Given the description of an element on the screen output the (x, y) to click on. 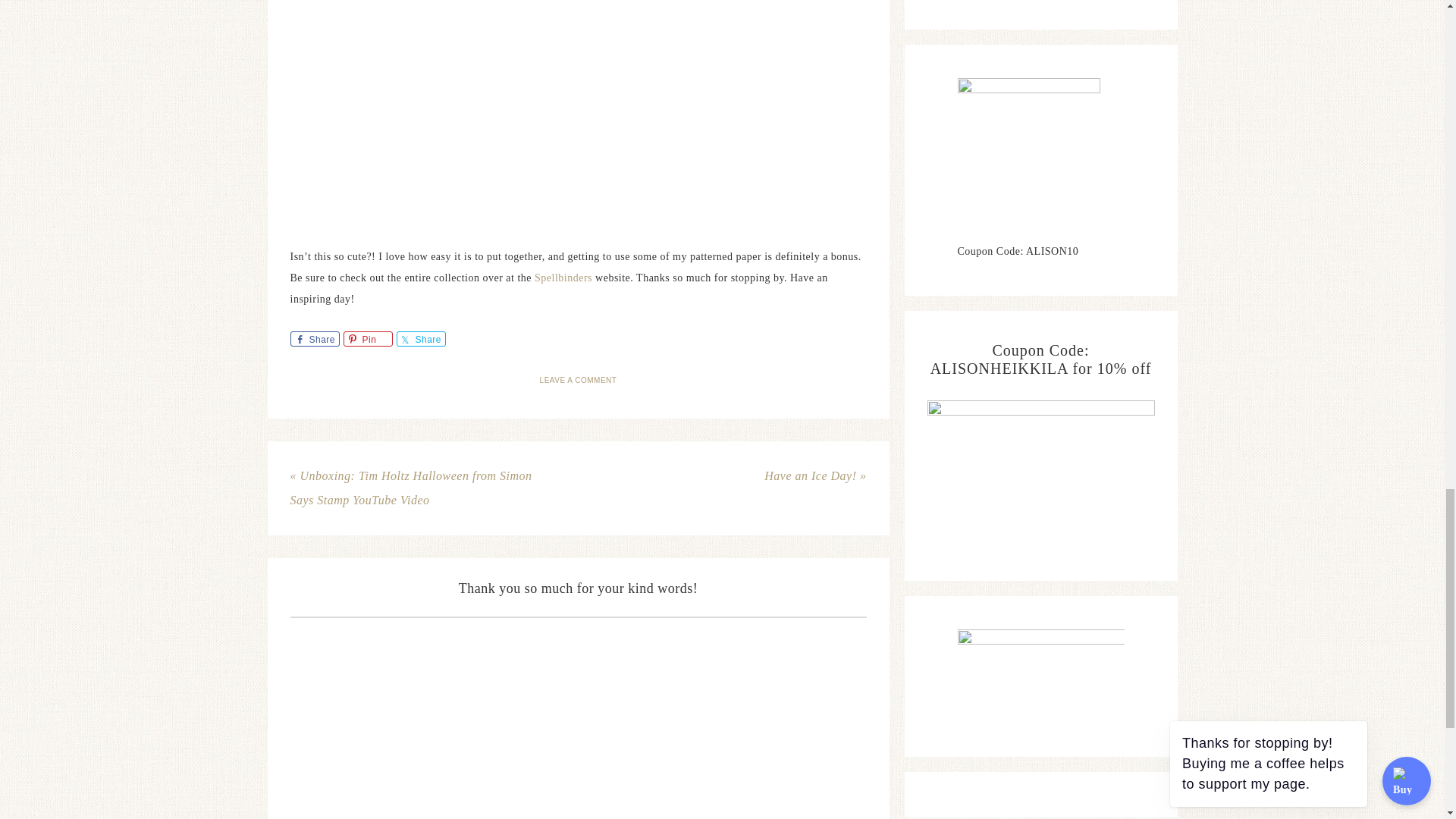
Comment Form (577, 717)
Spellbinders  (564, 277)
Share (314, 338)
Pin (366, 338)
LEAVE A COMMENT (578, 379)
Share (420, 338)
